Given the description of an element on the screen output the (x, y) to click on. 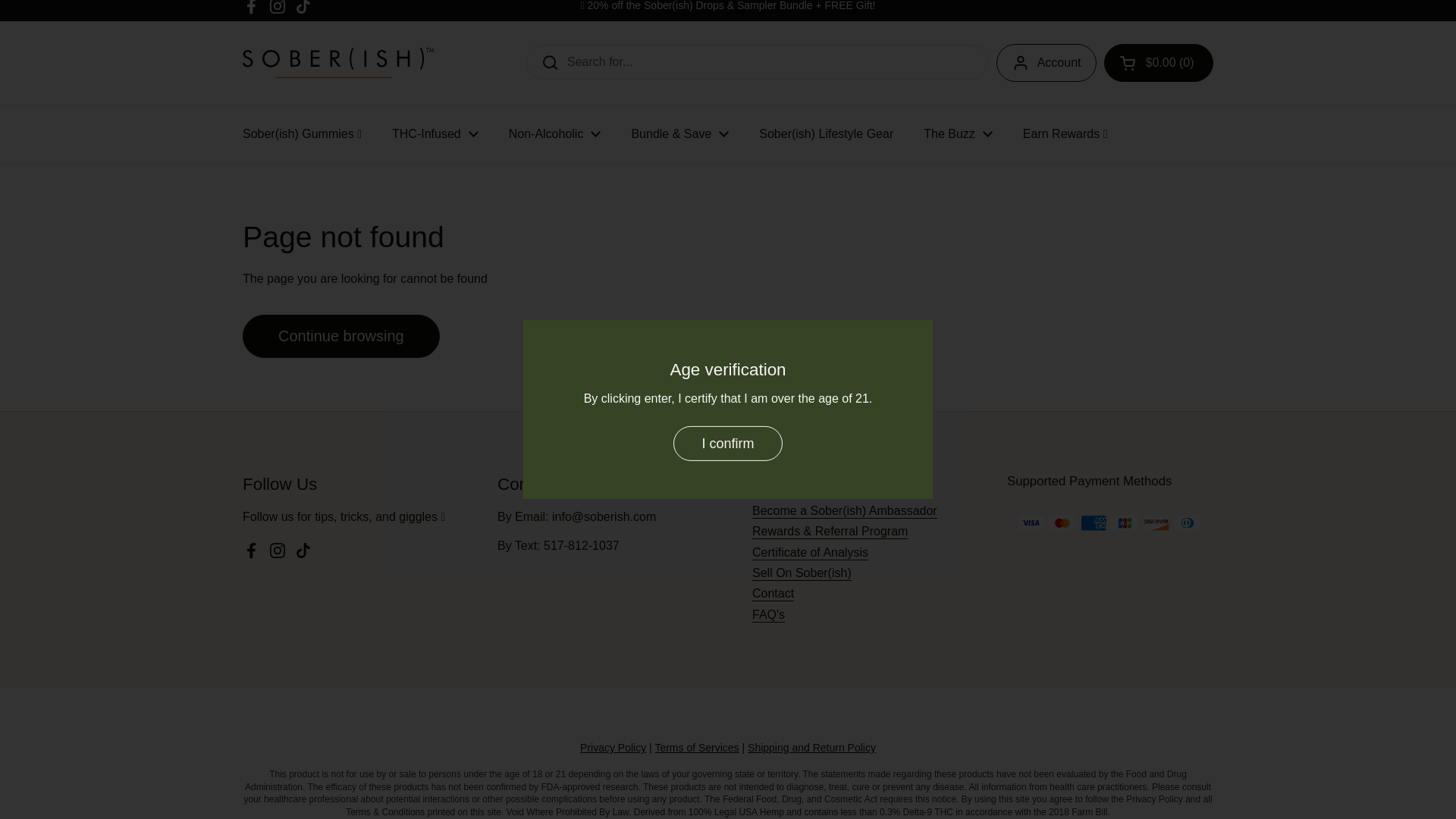
Non-Alcoholic (554, 134)
Account (1046, 62)
The Buzz (957, 134)
Open cart (1157, 62)
Facebook (251, 7)
THC-Infused (435, 134)
TikTok (303, 7)
THC-Infused (435, 134)
Non-Alcoholic  (554, 134)
Instagram (276, 7)
